Given the description of an element on the screen output the (x, y) to click on. 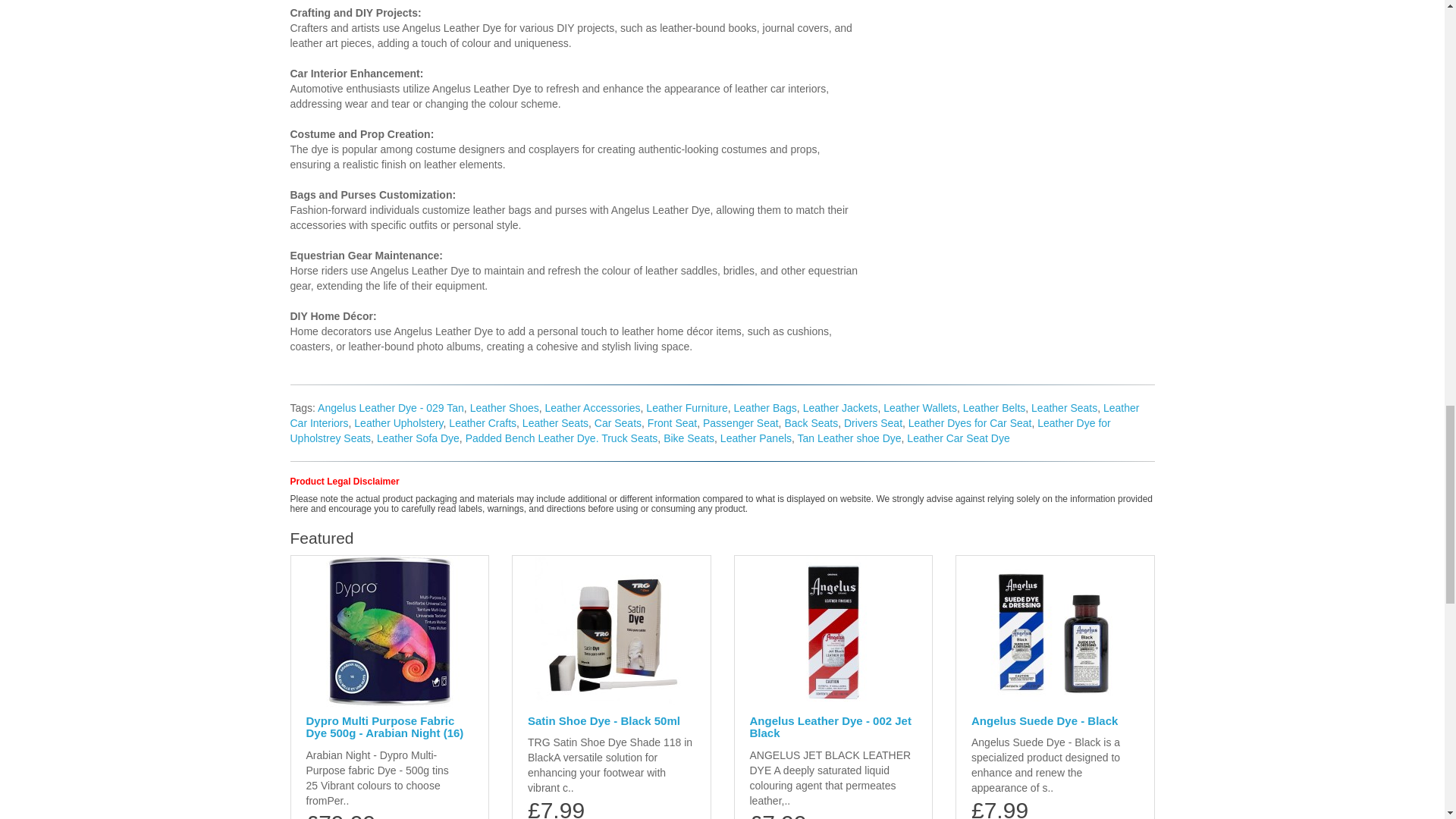
Angelus Suede Dye - Black (1054, 630)
Angelus Leather Dye - 002  Jet Black (832, 630)
Satin Shoe Dye - Black 50ml (611, 630)
